Given the description of an element on the screen output the (x, y) to click on. 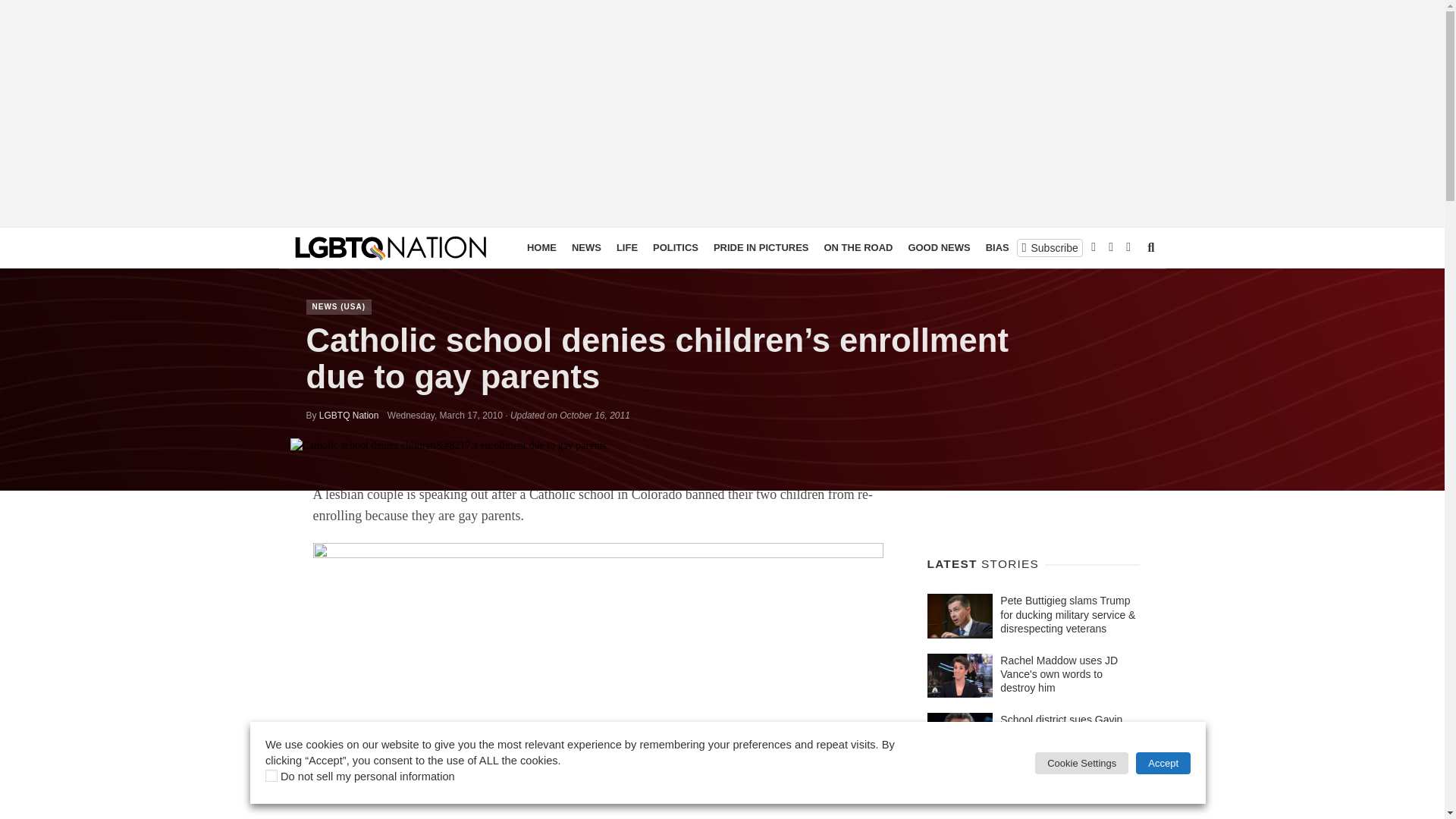
GOOD NEWS (937, 247)
PRIDE IN PICTURES (761, 247)
LIFE (626, 247)
NEWS (586, 247)
COMMENTARY (1097, 247)
on (271, 775)
BIAS WATCH (1016, 247)
POLITICS (675, 247)
Posts by LGBTQ Nation (348, 415)
LGBTQ Nation (348, 415)
Wednesday, March 17, 2010 pm31 13:00:17 (444, 415)
HOME (541, 247)
ON THE ROAD (857, 247)
